Given the description of an element on the screen output the (x, y) to click on. 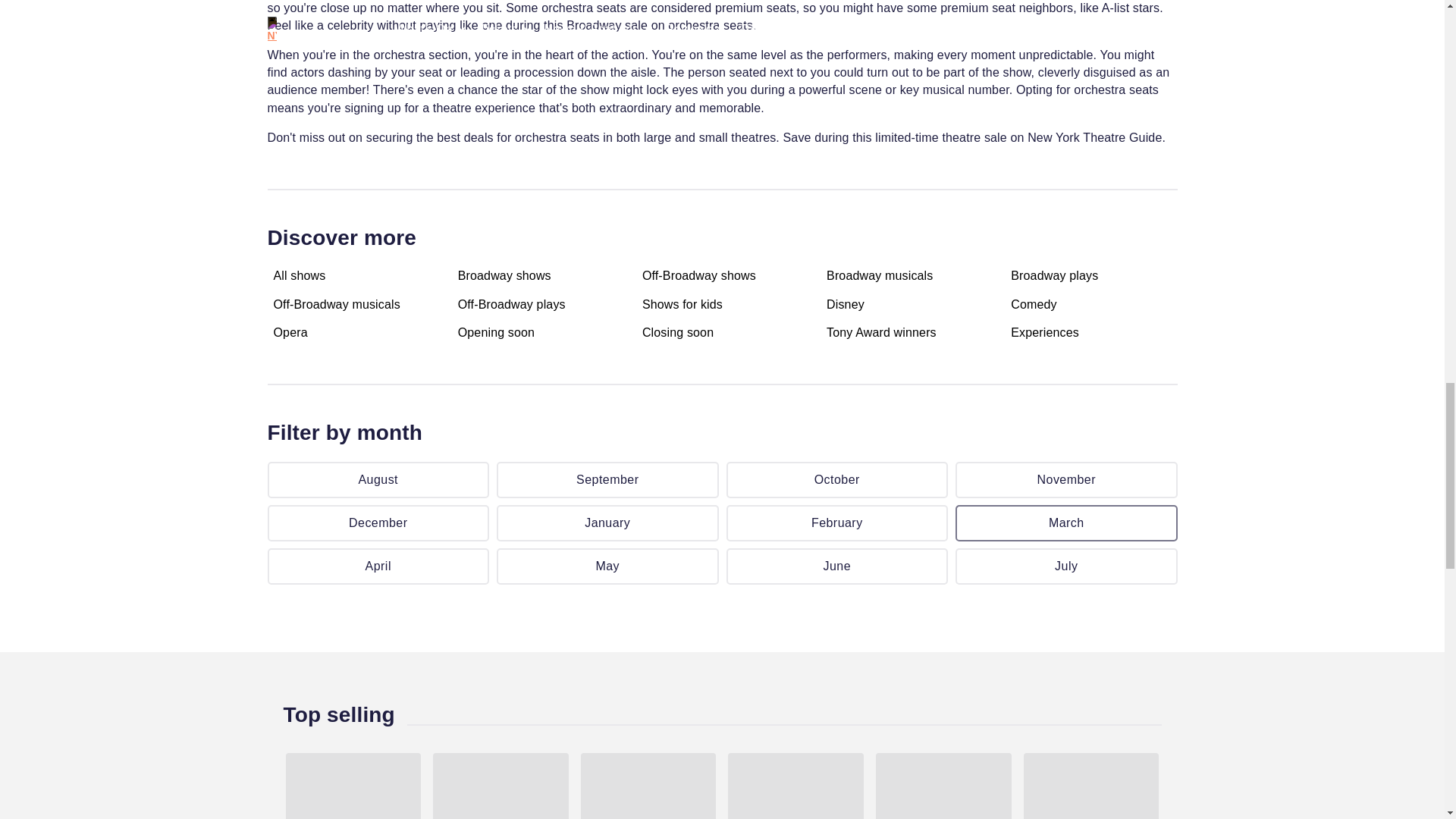
All shows (298, 275)
Broadway musicals (880, 275)
Off-Broadway musicals (335, 304)
Off-Broadway plays (512, 304)
Off-Broadway shows (698, 275)
Experiences (1044, 332)
Comedy (1033, 304)
Shows for kids (682, 304)
Broadway plays (1053, 275)
Closing soon (677, 332)
Opening soon (496, 332)
Tony Award winners (881, 332)
Broadway shows (504, 275)
Disney (845, 304)
Opera (290, 332)
